Given the description of an element on the screen output the (x, y) to click on. 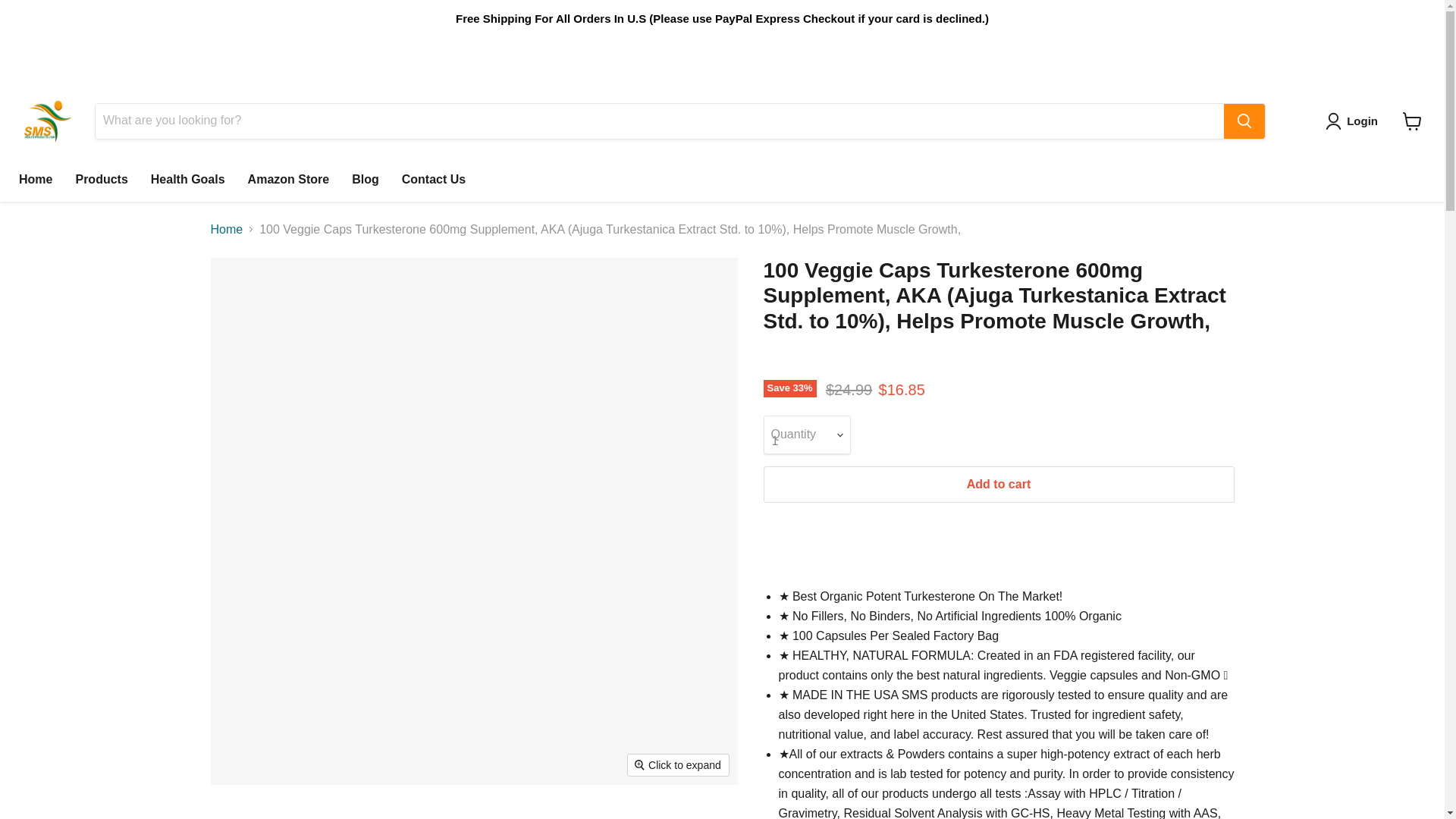
Home (35, 179)
Instagram (1166, 55)
View cart (1411, 121)
Email (1220, 55)
Contact Us (433, 179)
Find us on Twitter (1139, 55)
Click to expand (678, 764)
Find us on Instagram (1166, 55)
Products (101, 179)
Youtube (1193, 55)
Twitter (1139, 55)
Health Goals (187, 179)
Home (227, 229)
Blog (365, 179)
Find us on Email (1220, 55)
